Given the description of an element on the screen output the (x, y) to click on. 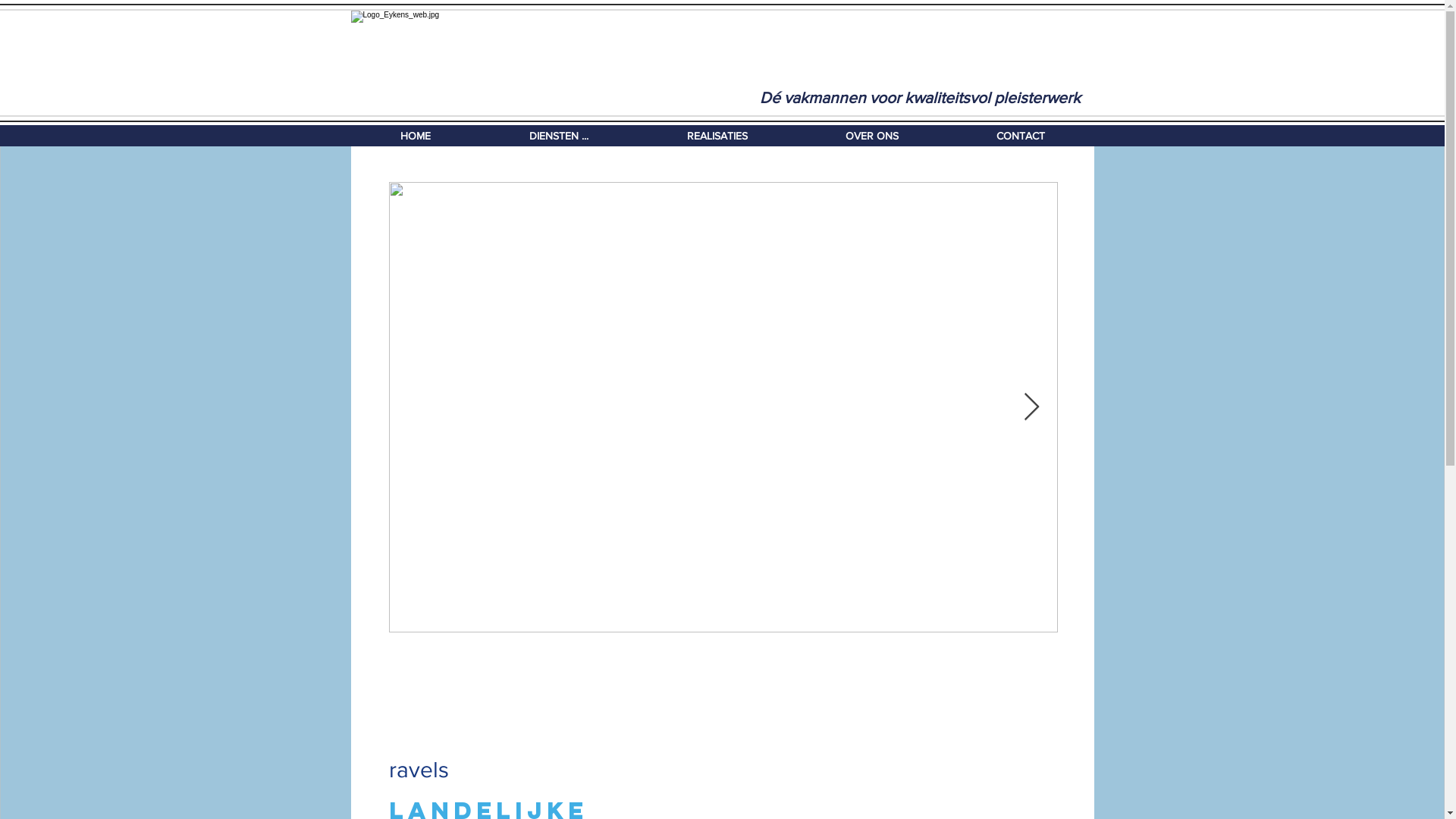
REALISATIES Element type: text (716, 135)
DIENSTEN ... Element type: text (558, 135)
HOME Element type: text (414, 135)
OVER ONS Element type: text (871, 135)
CONTACT Element type: text (1020, 135)
